Given the description of an element on the screen output the (x, y) to click on. 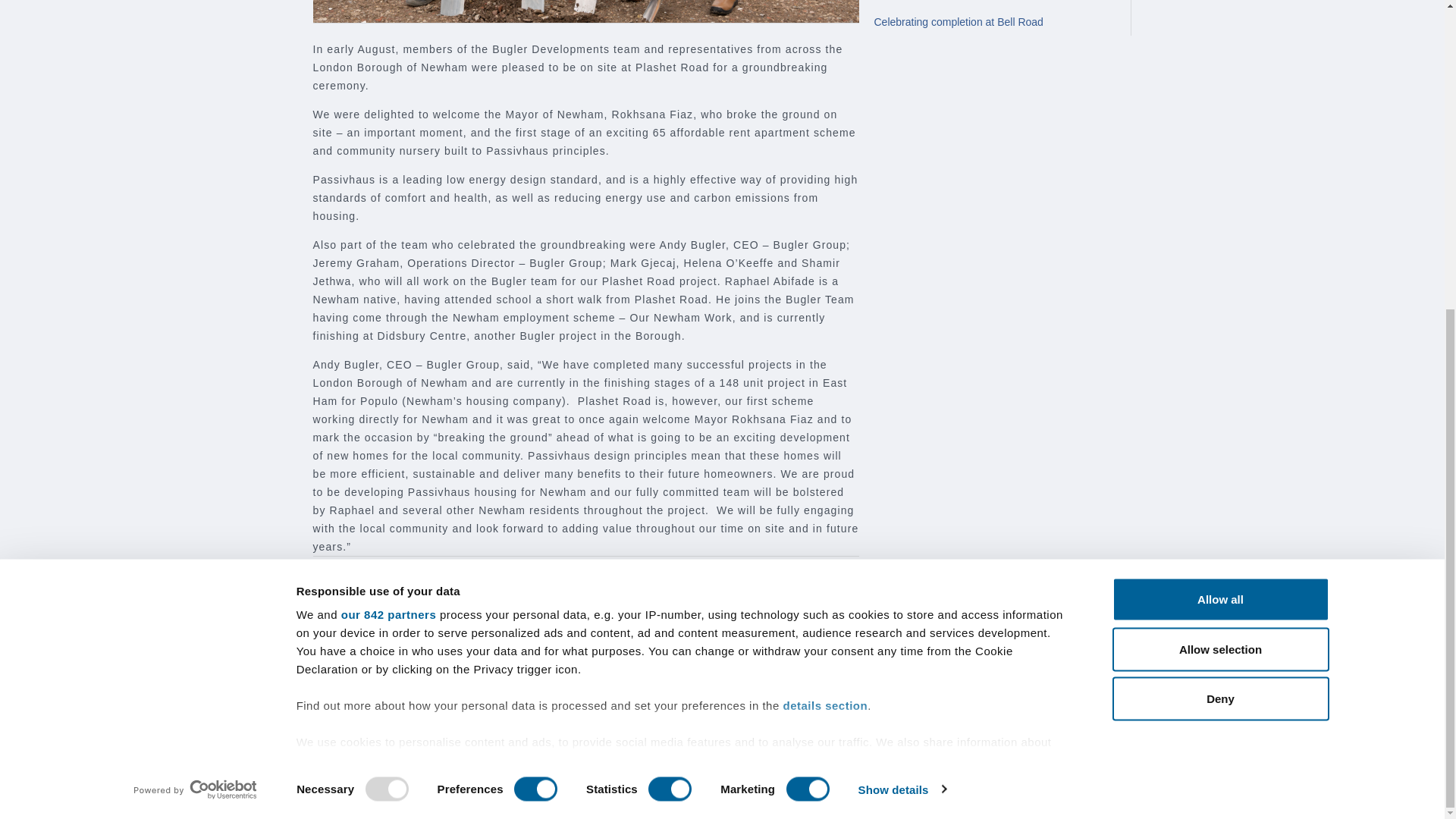
our 842 partners (388, 124)
Show details (900, 299)
details section (825, 215)
